Given the description of an element on the screen output the (x, y) to click on. 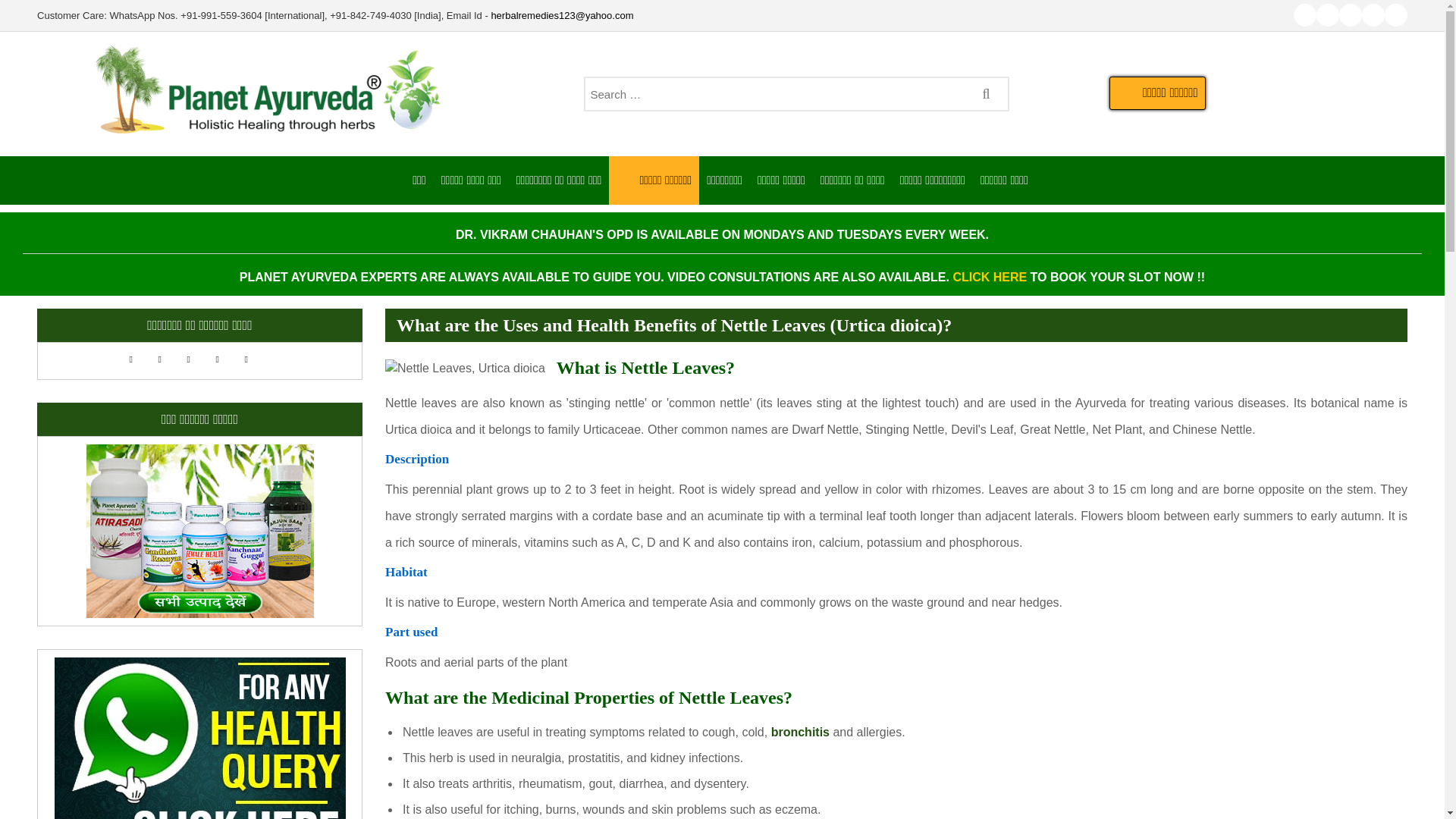
instagram (1372, 15)
Spanish (253, 357)
English (138, 357)
French (167, 357)
German (196, 357)
bronchitis (800, 731)
Facebook (1327, 15)
Twitter (1350, 15)
CLICK HERE (989, 277)
pinterest (1395, 15)
